Given the description of an element on the screen output the (x, y) to click on. 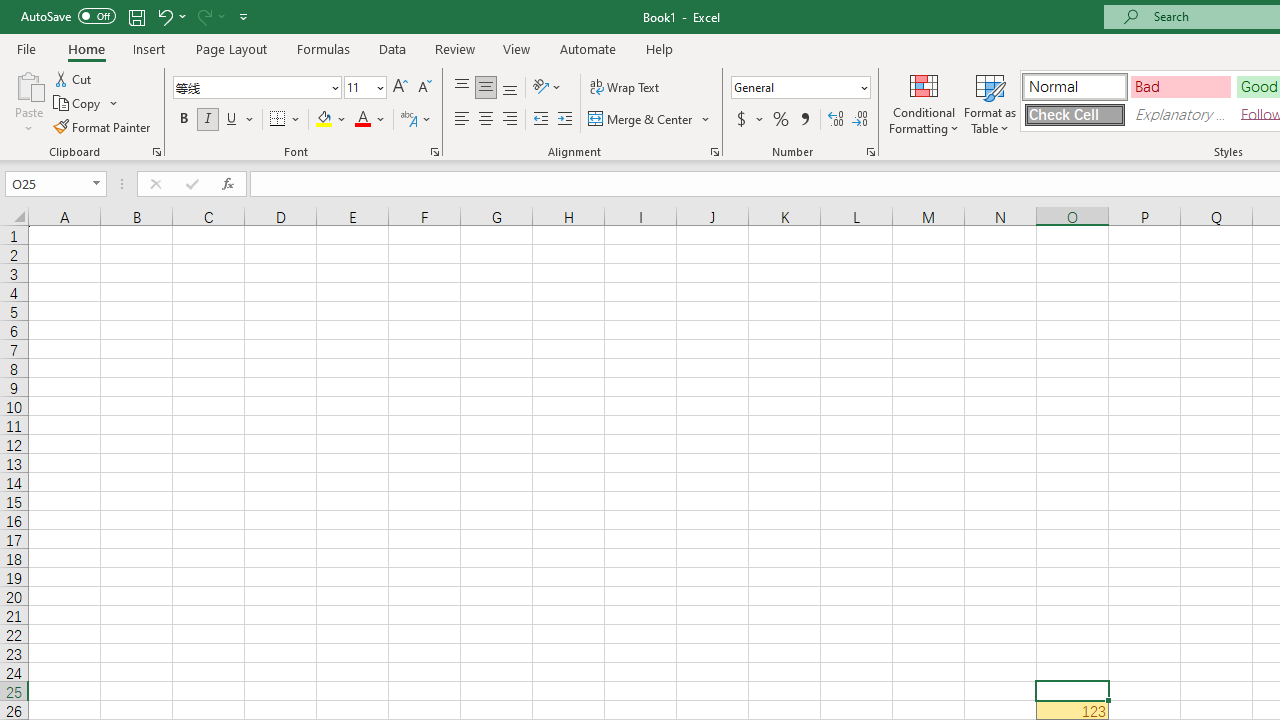
Merge & Center (649, 119)
Merge & Center (641, 119)
Increase Decimal (836, 119)
Comma Style (804, 119)
Underline (239, 119)
Underline (232, 119)
Fill Color (331, 119)
Decrease Indent (540, 119)
Decrease Decimal (859, 119)
Increase Indent (565, 119)
Wrap Text (624, 87)
Align Right (509, 119)
Format Cell Font (434, 151)
